Given the description of an element on the screen output the (x, y) to click on. 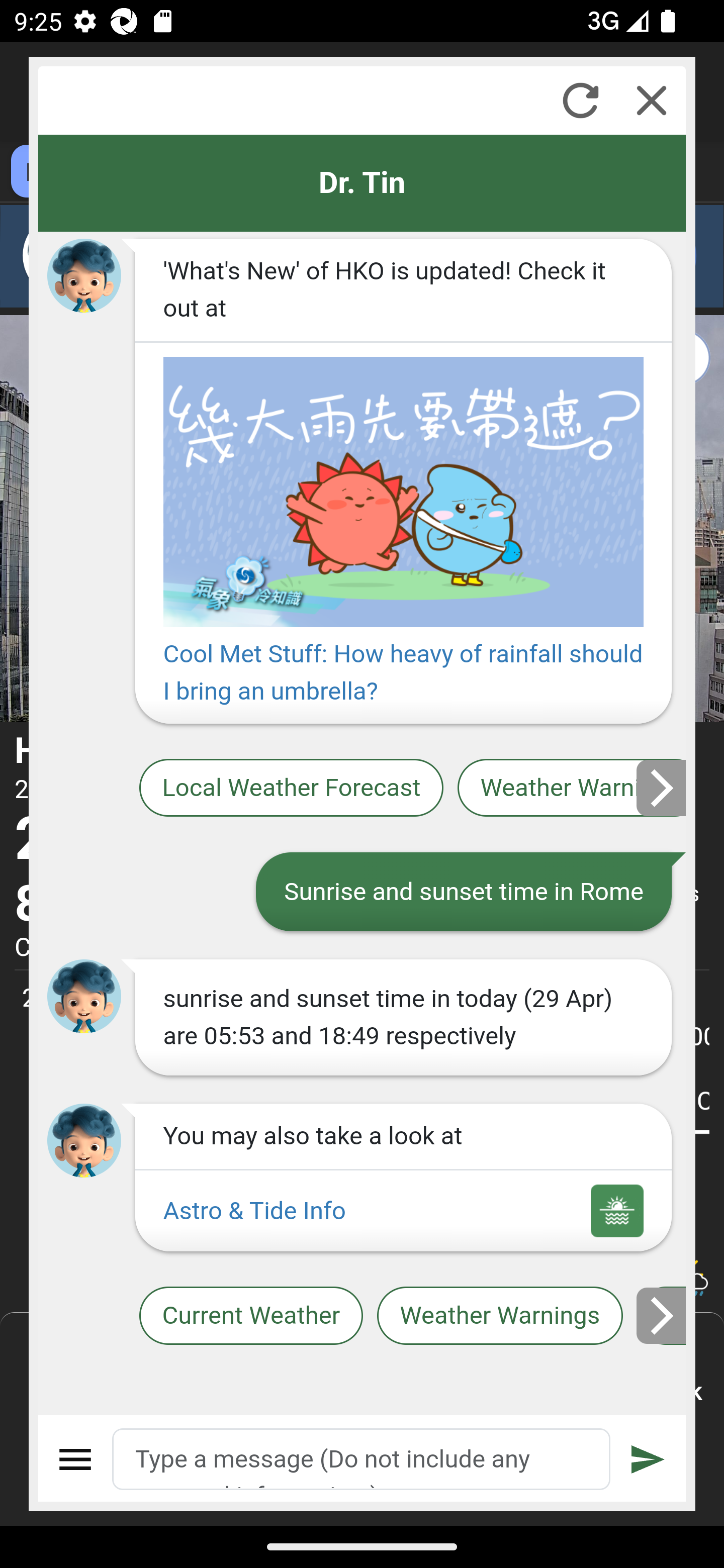
Refresh (580, 100)
Close (651, 100)
Local Weather Forecast (291, 787)
Weather Warnings (571, 787)
Next slide (661, 787)
Astro & Tide Info (403, 1210)
Current Weather (250, 1315)
Weather Warnings (499, 1315)
Hong Kong Tidal Information (661, 1315)
Menu (75, 1458)
Submit (648, 1458)
